Given the description of an element on the screen output the (x, y) to click on. 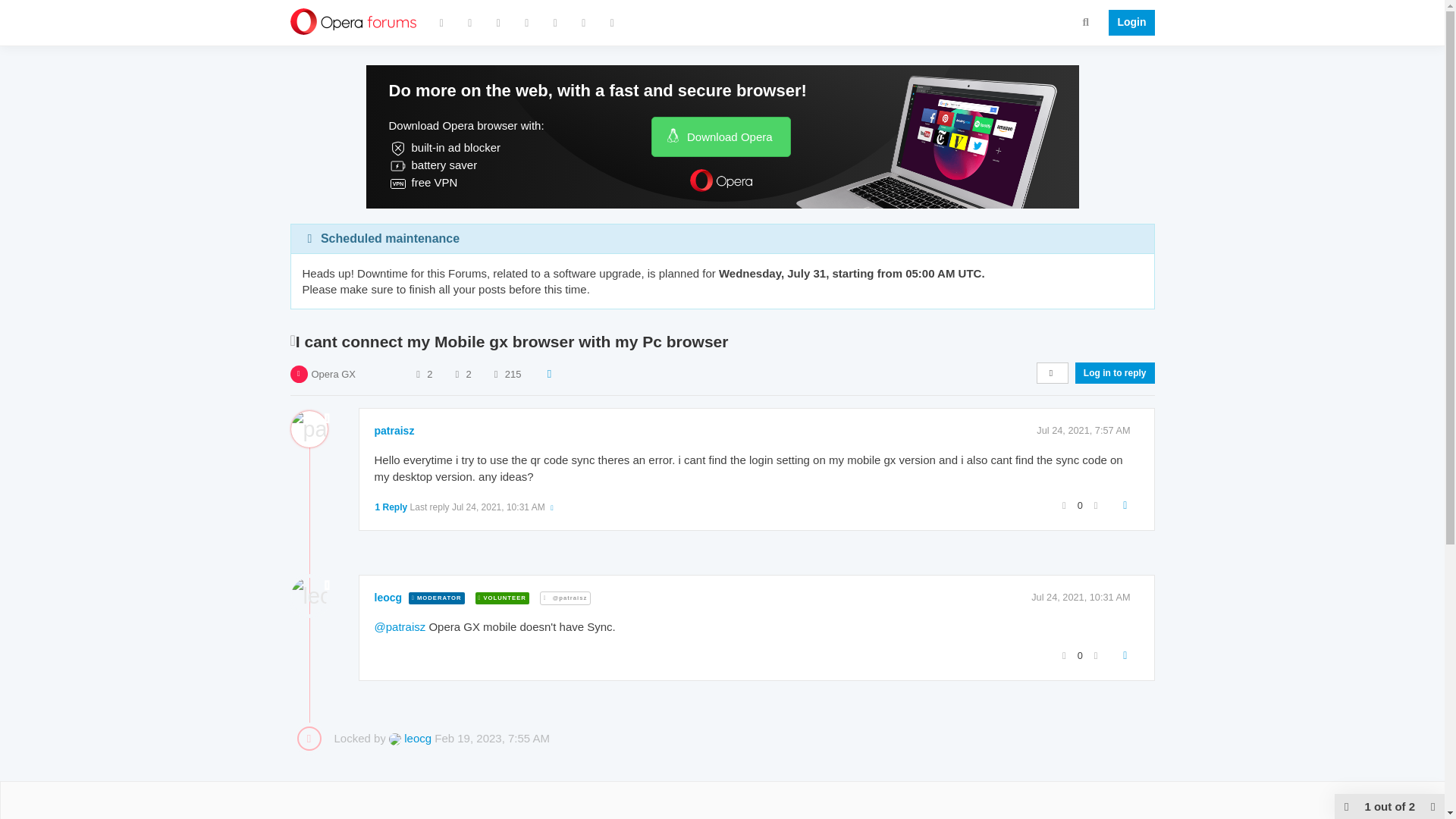
on (523, 816)
Opera GX (333, 374)
Login (1127, 22)
Jul 24, 2021, 7:57 AM (1082, 430)
on (1070, 816)
Log in to reply (1114, 373)
patraisz (394, 430)
on (881, 816)
Search (1085, 21)
Download Opera (720, 137)
on (293, 816)
on (702, 816)
